Given the description of an element on the screen output the (x, y) to click on. 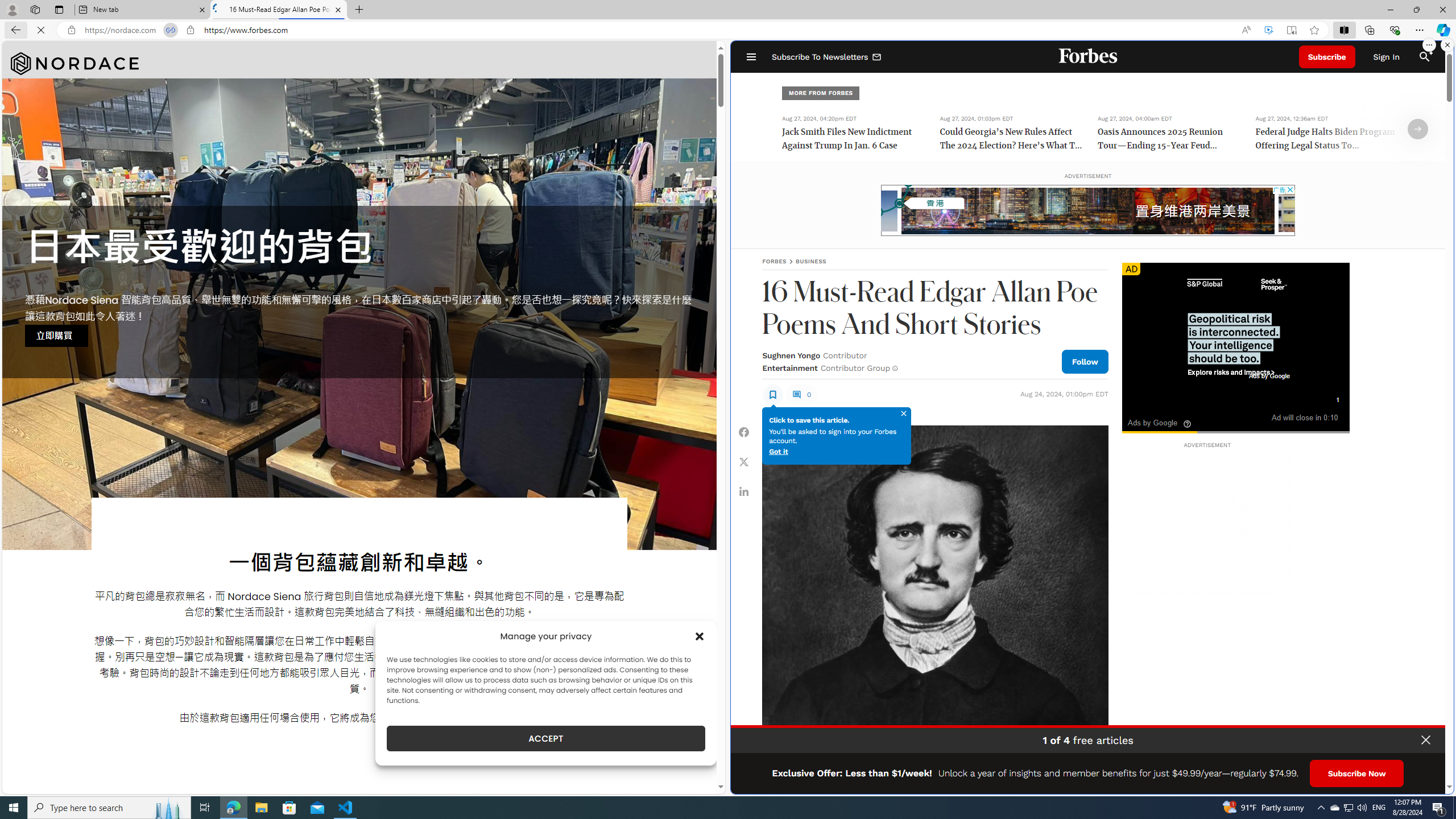
0 (801, 394)
BUSINESS (810, 261)
Share Twitter (743, 461)
Sign In (1386, 56)
Subscribe Now (1356, 773)
Got it (777, 451)
More options. (1428, 45)
